Given the description of an element on the screen output the (x, y) to click on. 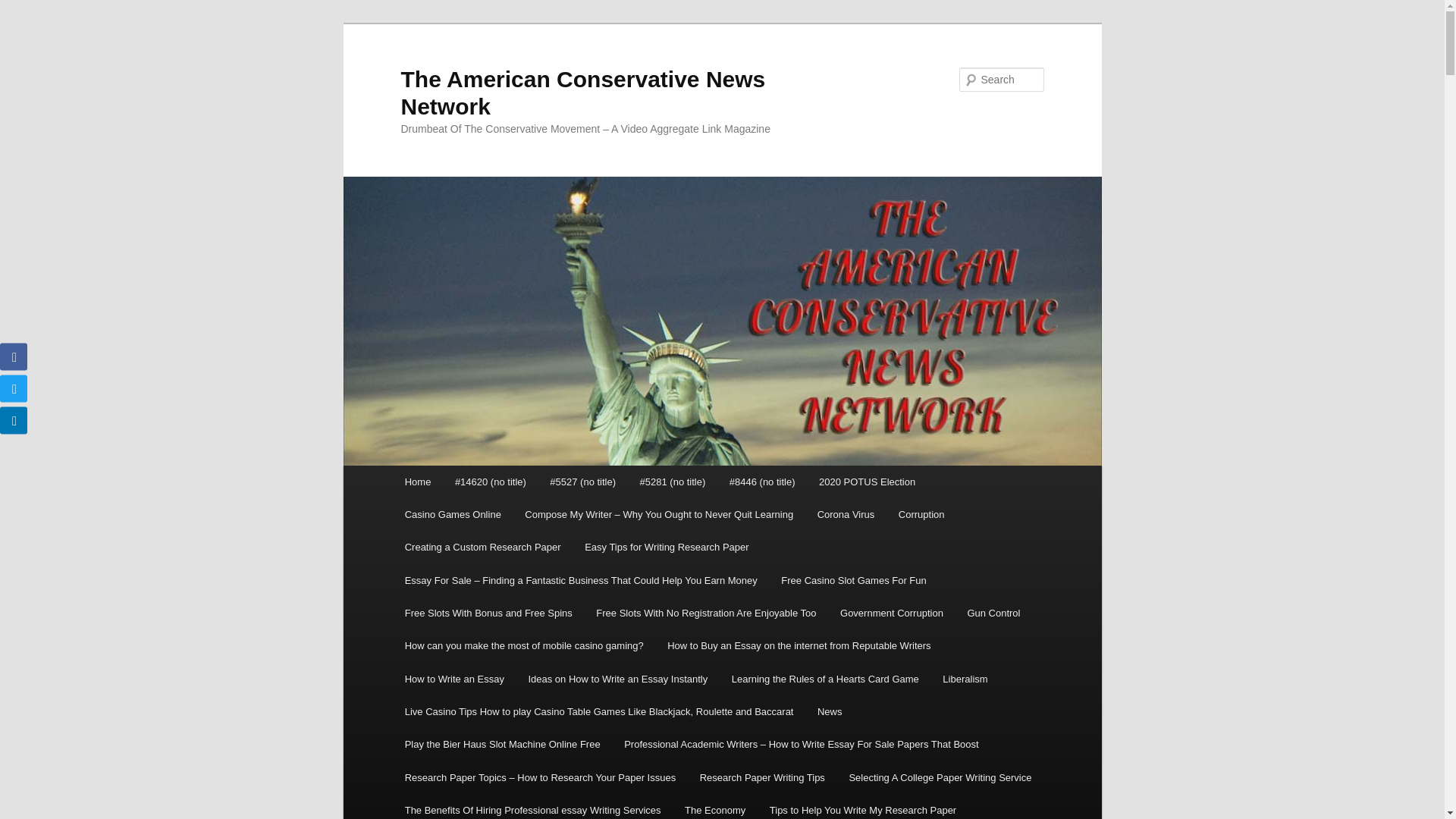
How to Write an Essay (454, 678)
2020 POTUS Election (866, 481)
Gun Control (993, 613)
Ideas on How to Write an Essay Instantly (617, 678)
Casino Games Online (453, 513)
Learning the Rules of a Hearts Card Game (825, 678)
Government Corruption (891, 613)
Search (24, 8)
Corruption (921, 513)
Creating a Custom Research Paper (482, 546)
